Given the description of an element on the screen output the (x, y) to click on. 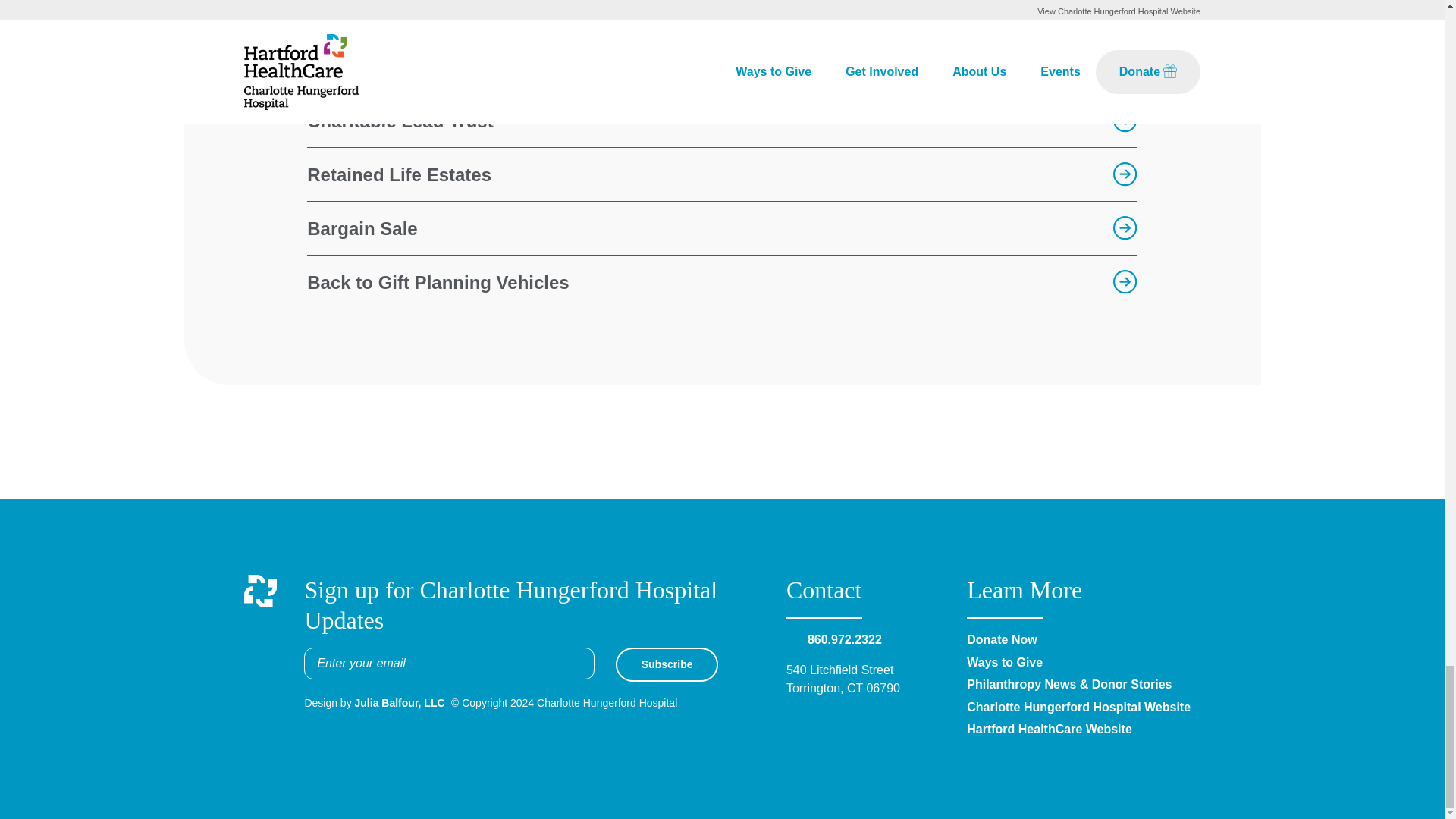
Subscribe (667, 664)
Retained Life Estates (722, 174)
Charitable Lead Trust (722, 120)
Back to Gift Planning Vehicles (722, 281)
Bargain Sale (722, 227)
Donor-Advised Fund (722, 19)
Ways to Give (1004, 662)
Donate Now (1001, 639)
Julia Balfour, LLC (400, 702)
Subscribe (667, 664)
860.972.2322 (845, 639)
Naming Us in Your Assets (722, 66)
